Given the description of an element on the screen output the (x, y) to click on. 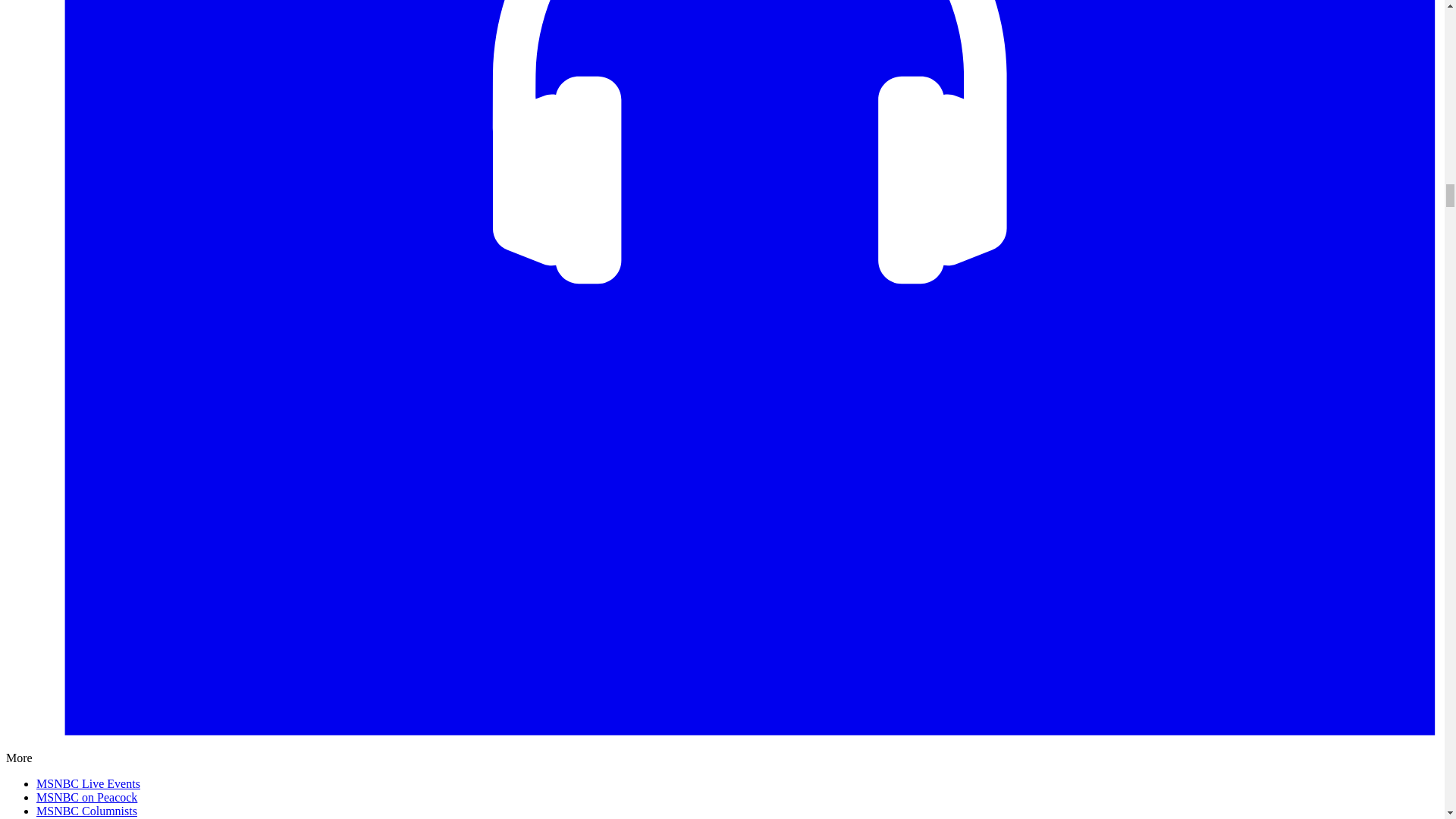
MSNBC Live Events (87, 783)
MSNBC on Peacock (86, 797)
